Given the description of an element on the screen output the (x, y) to click on. 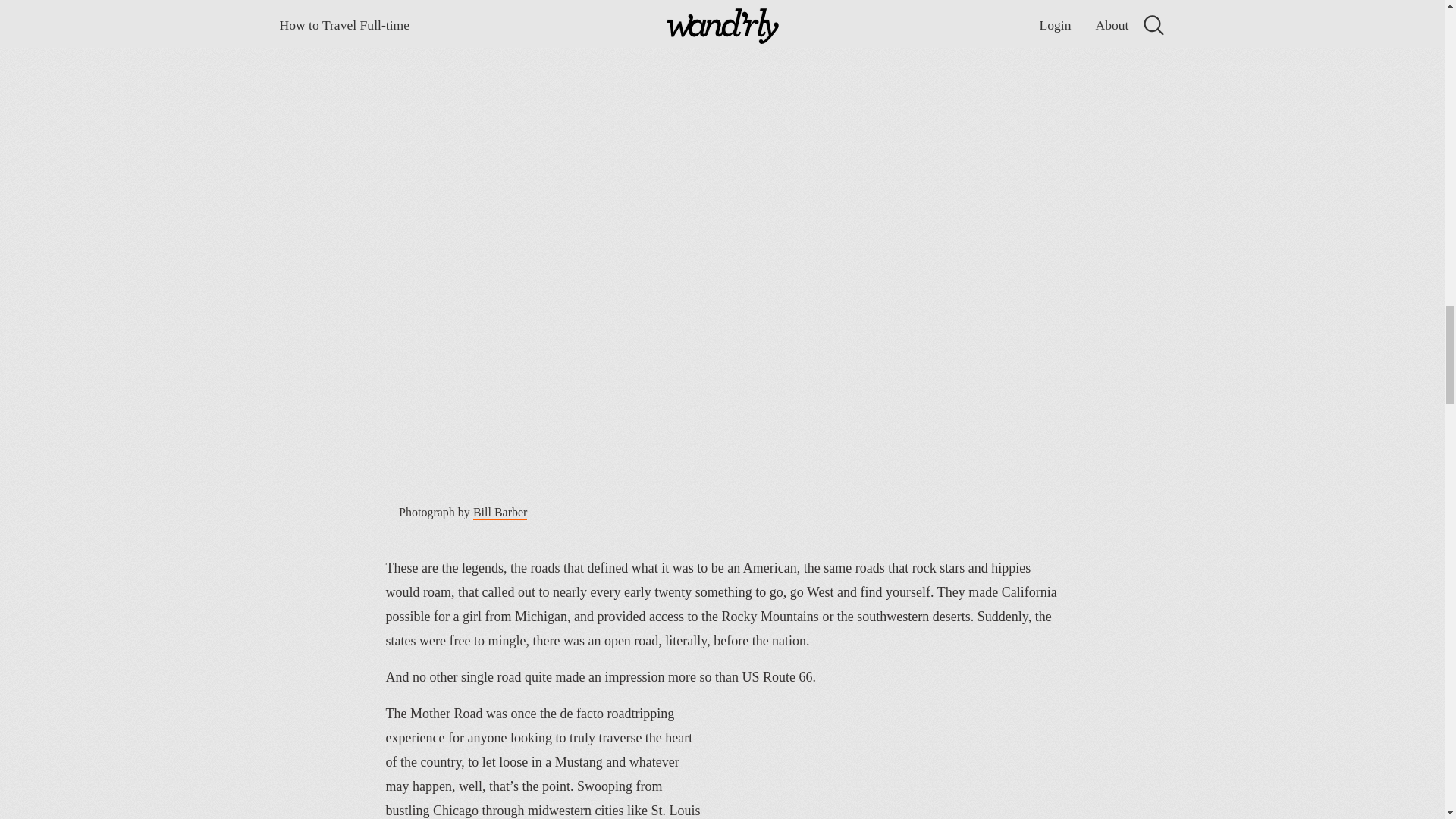
Bill Barber (500, 513)
rt-66-station (898, 757)
